Given the description of an element on the screen output the (x, y) to click on. 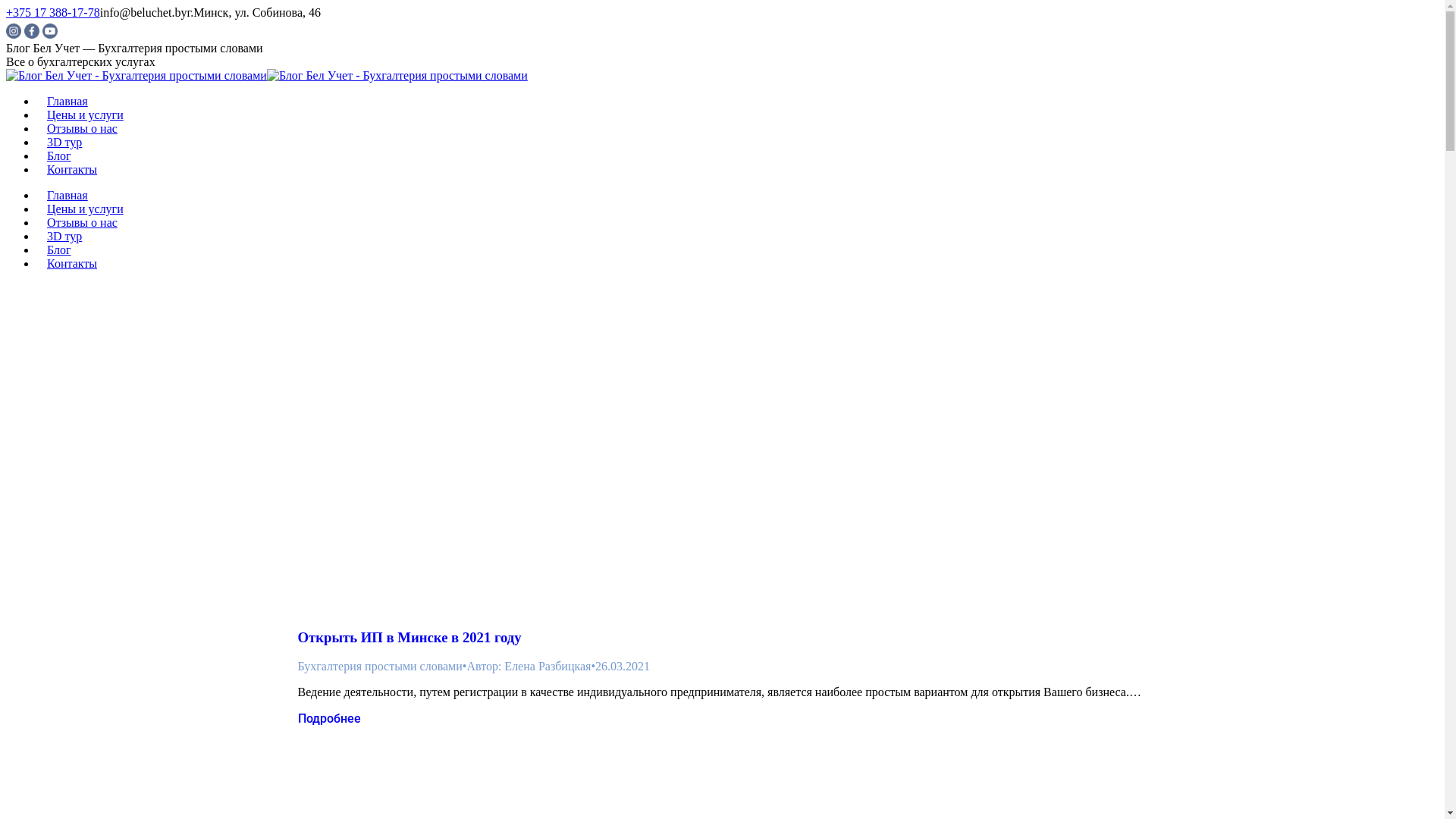
+375 17 388-17-78 Element type: text (53, 12)
